Given the description of an element on the screen output the (x, y) to click on. 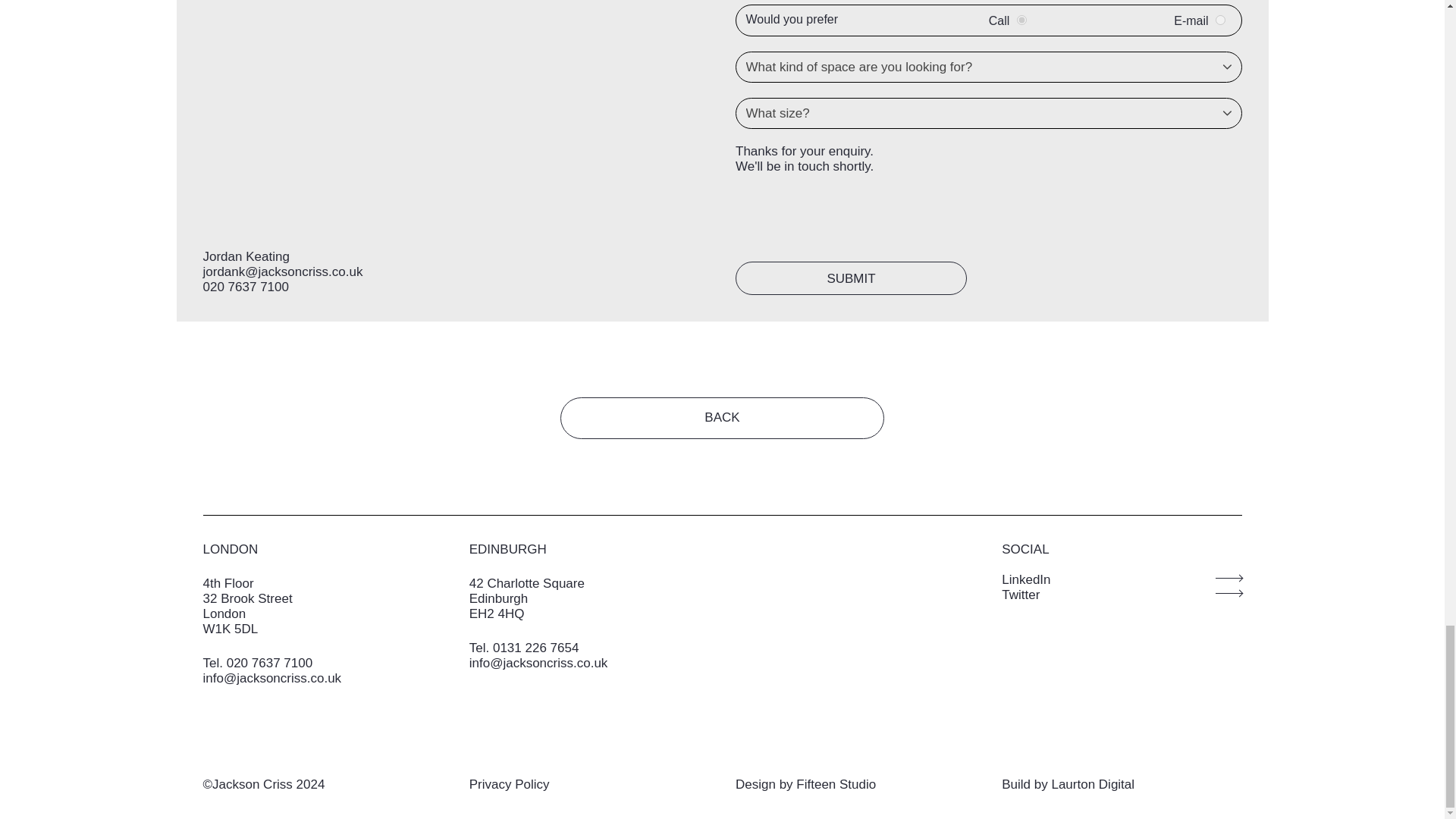
020 7637 7100 (270, 663)
BACK (721, 417)
Twitter (1121, 595)
E-mail (1220, 20)
Privacy Policy (509, 784)
0131 226 7654 (535, 647)
020 7637 7100 (245, 287)
LinkedIn (1121, 580)
SUBMIT (850, 277)
Call (1021, 20)
